Given the description of an element on the screen output the (x, y) to click on. 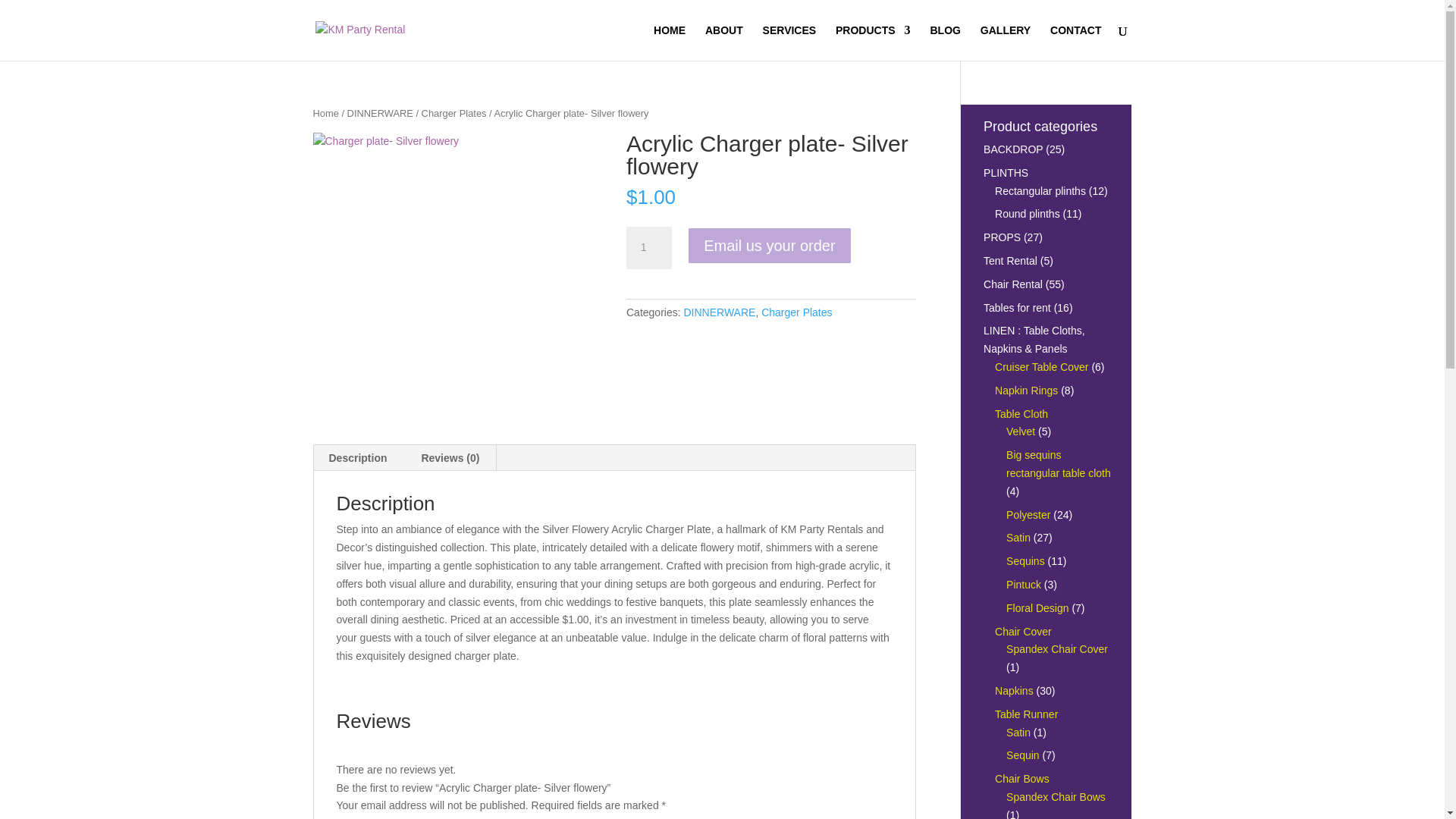
Rectangular plinths (1040, 191)
Charger Plates (454, 112)
CONTACT (1074, 42)
PRODUCTS (873, 42)
DINNERWARE (718, 312)
1 (648, 247)
Round plinths (1026, 214)
HOME (669, 42)
GALLERY (1004, 42)
Charger plate- Silver flowery (457, 277)
